Given the description of an element on the screen output the (x, y) to click on. 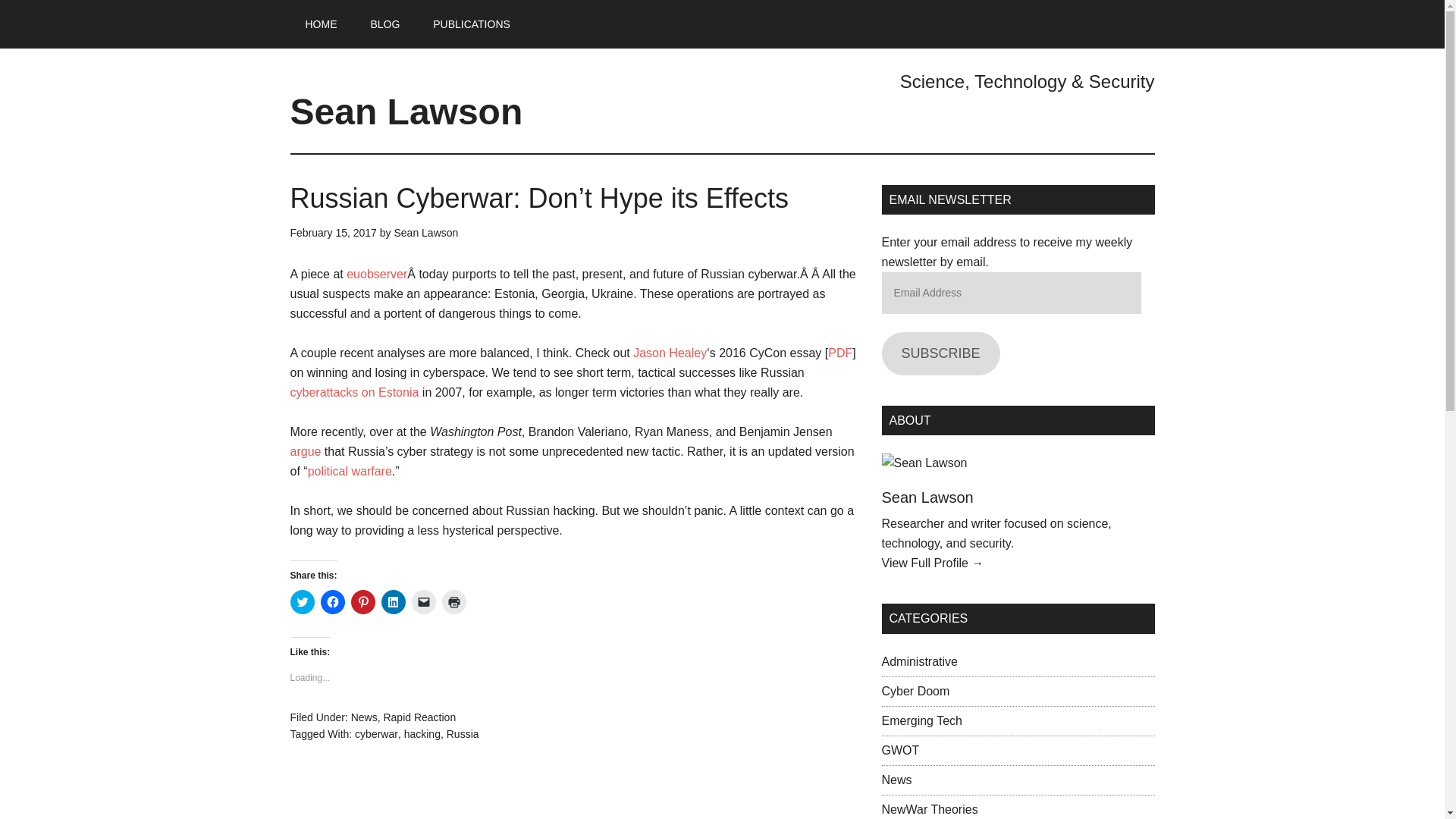
euobserver (376, 273)
Click to share on Facebook (331, 601)
HOME (320, 24)
News (895, 779)
2007 cyberattacks on Estonia (354, 391)
Click to share on LinkedIn (392, 601)
Click to print (453, 601)
Administrative (918, 661)
SUBSCRIBE (939, 353)
Click to share on Pinterest (362, 601)
Jason Healey (669, 352)
hacking (422, 734)
Jason Healey (669, 352)
Sean Lawson (926, 497)
NewWar Theories (928, 809)
